Given the description of an element on the screen output the (x, y) to click on. 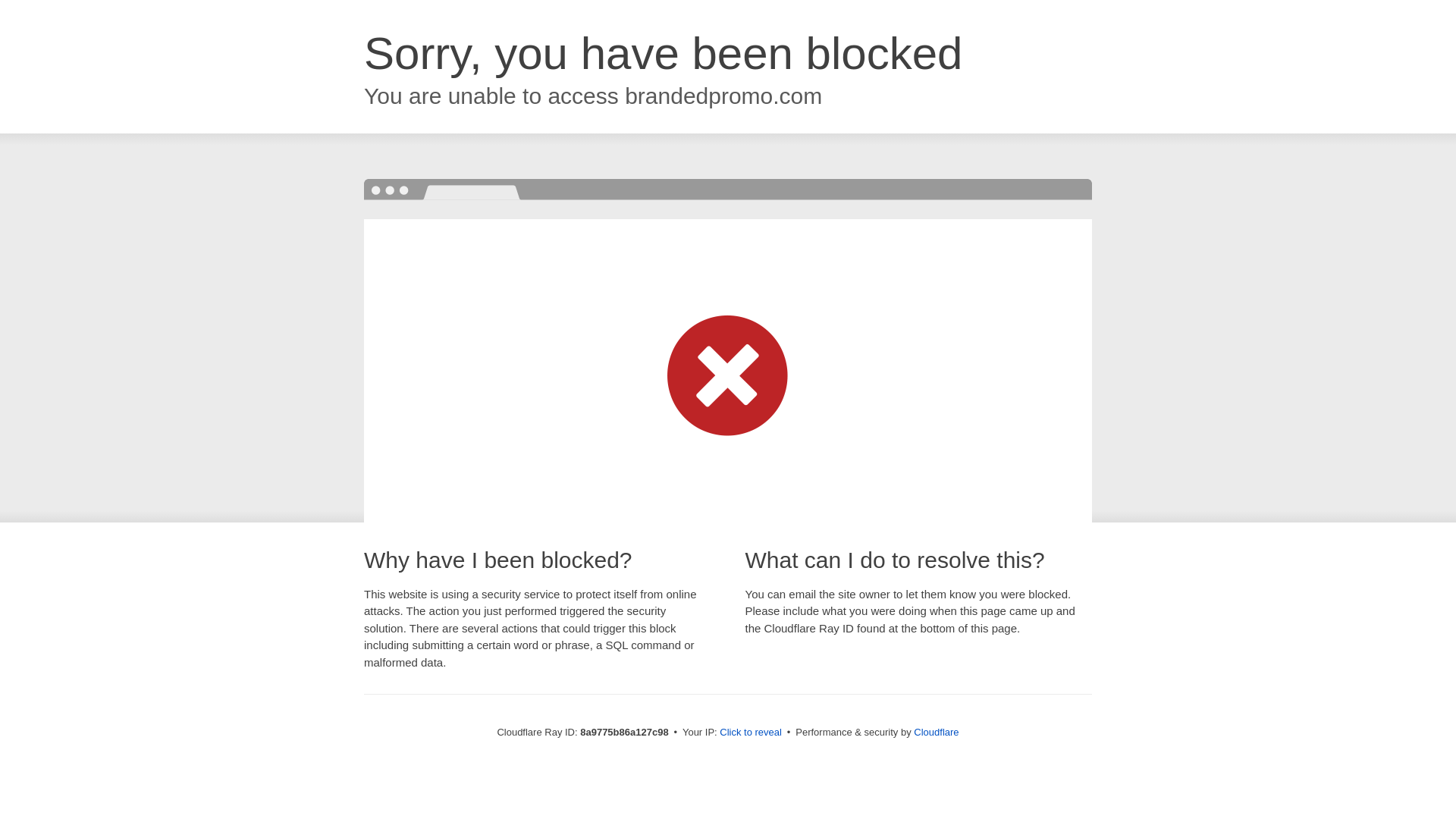
Click to reveal (750, 732)
Cloudflare (936, 731)
